Given the description of an element on the screen output the (x, y) to click on. 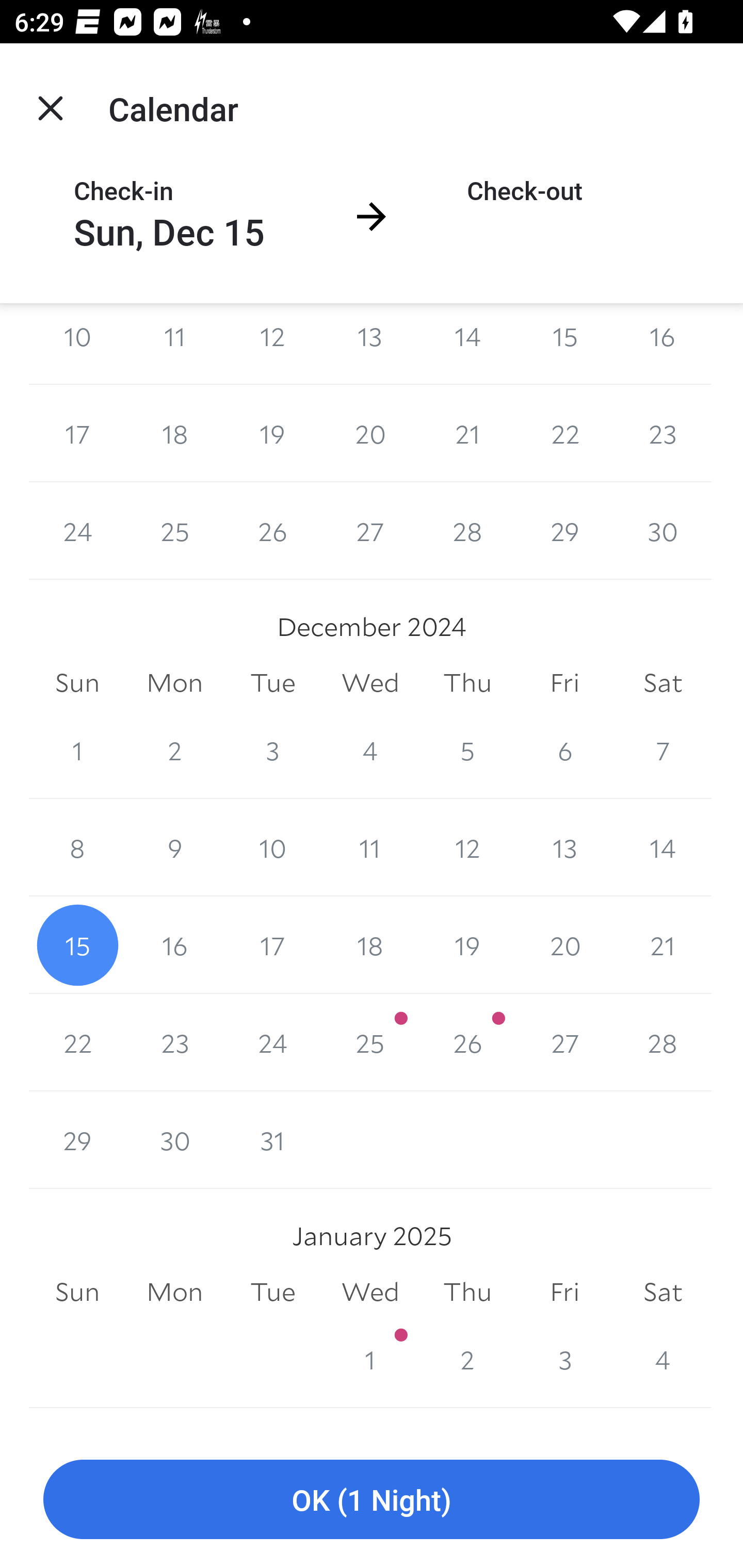
10 10 November 2024 (77, 343)
11 11 November 2024 (174, 343)
12 12 November 2024 (272, 343)
13 13 November 2024 (370, 343)
14 14 November 2024 (467, 343)
15 15 November 2024 (564, 343)
16 16 November 2024 (662, 343)
17 17 November 2024 (77, 433)
18 18 November 2024 (174, 433)
19 19 November 2024 (272, 433)
20 20 November 2024 (370, 433)
21 21 November 2024 (467, 433)
22 22 November 2024 (564, 433)
23 23 November 2024 (662, 433)
24 24 November 2024 (77, 531)
25 25 November 2024 (174, 531)
26 26 November 2024 (272, 531)
27 27 November 2024 (370, 531)
28 28 November 2024 (467, 531)
29 29 November 2024 (564, 531)
30 30 November 2024 (662, 531)
Sun (77, 682)
Mon (174, 682)
Tue (272, 682)
Wed (370, 682)
Thu (467, 682)
Fri (564, 682)
Sat (662, 682)
1 1 December 2024 (77, 749)
2 2 December 2024 (174, 749)
3 3 December 2024 (272, 749)
4 4 December 2024 (370, 749)
5 5 December 2024 (467, 749)
6 6 December 2024 (564, 749)
7 7 December 2024 (662, 749)
8 8 December 2024 (77, 847)
9 9 December 2024 (174, 847)
10 10 December 2024 (272, 847)
11 11 December 2024 (370, 847)
12 12 December 2024 (467, 847)
13 13 December 2024 (564, 847)
14 14 December 2024 (662, 847)
15 15 December 2024 (77, 945)
16 16 December 2024 (174, 945)
17 17 December 2024 (272, 945)
18 18 December 2024 (370, 945)
19 19 December 2024 (467, 945)
20 20 December 2024 (564, 945)
21 21 December 2024 (662, 945)
